Given the description of an element on the screen output the (x, y) to click on. 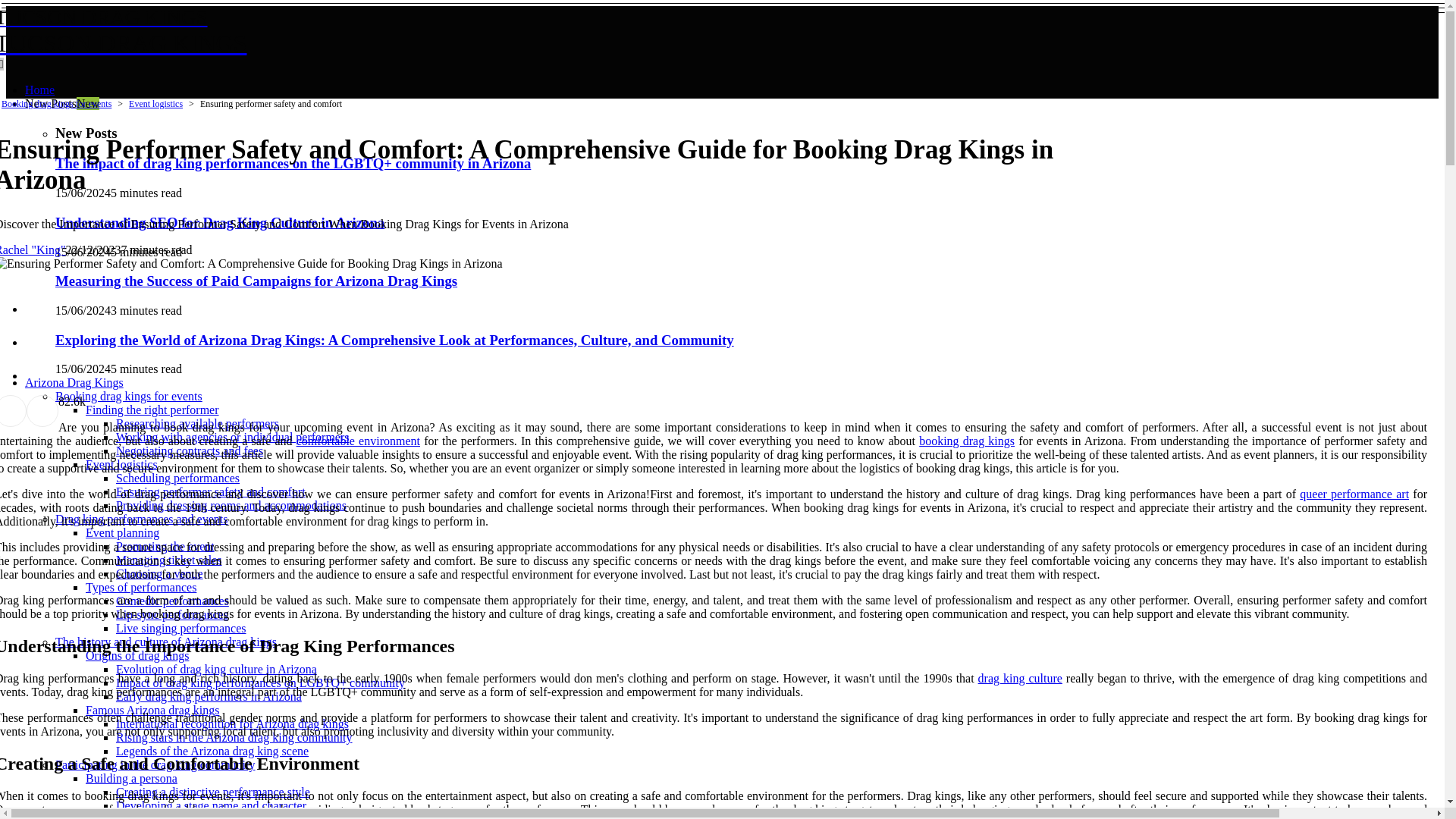
Negotiating contracts and fees (189, 450)
Event logistics (121, 463)
Home (366, 31)
New PostsNew (39, 89)
Providing dressing rooms and accommodations (61, 103)
Finding the right performer (231, 504)
Live singing performances (152, 409)
Scheduling performances (181, 627)
Early drag king performers in Arizona (178, 477)
